Given the description of an element on the screen output the (x, y) to click on. 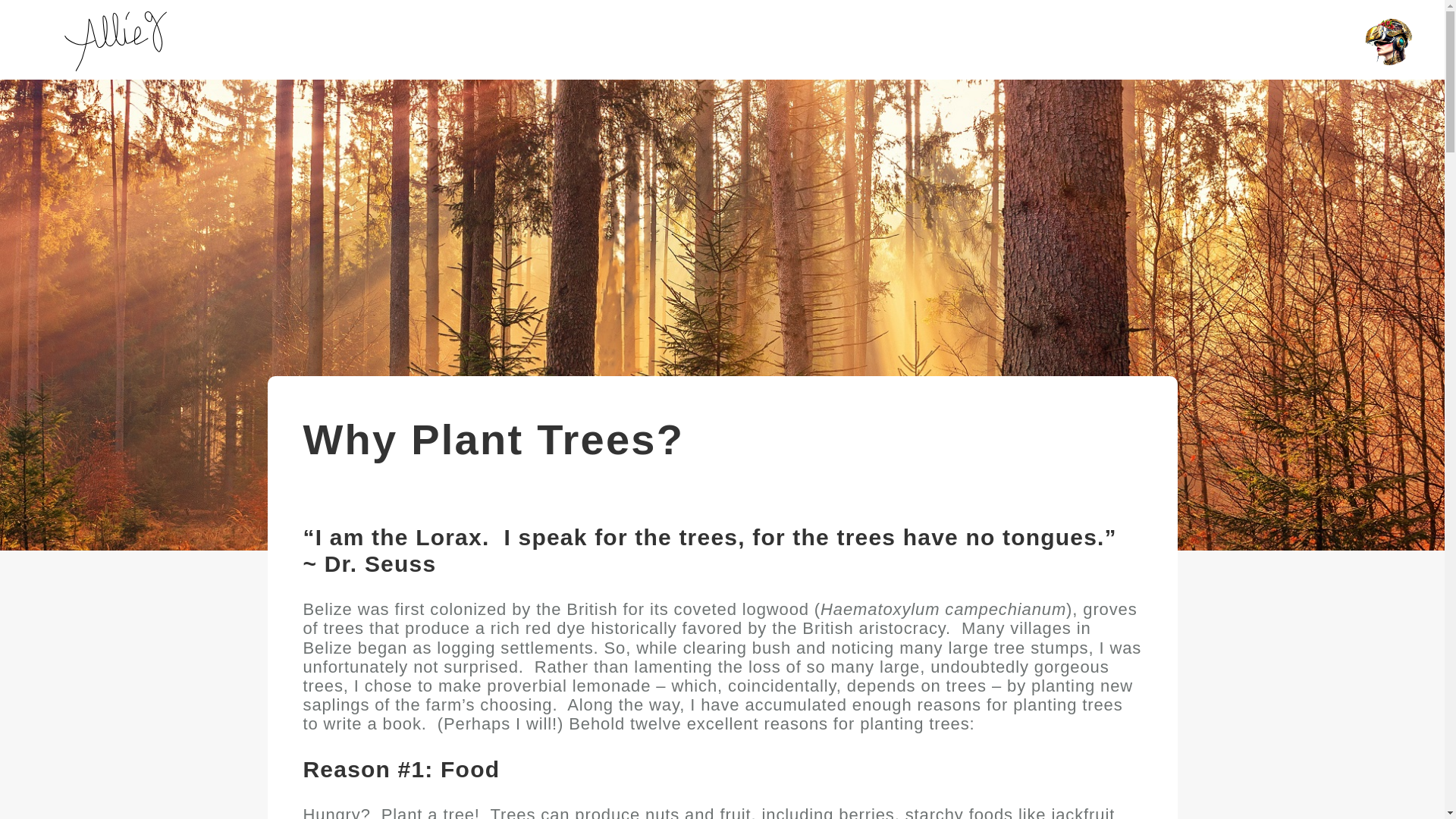
Subscribe (551, 514)
